Given the description of an element on the screen output the (x, y) to click on. 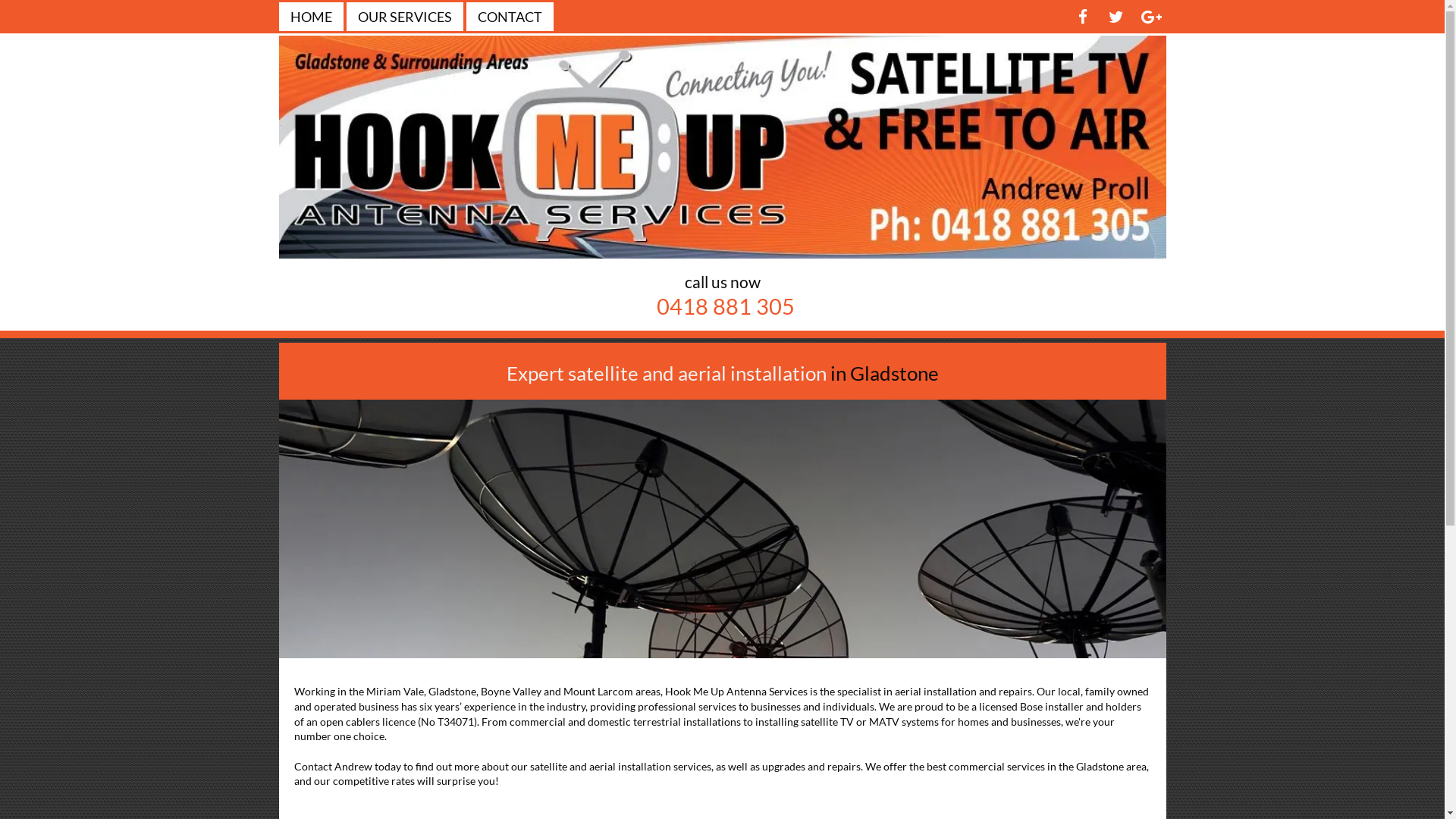
CONTACT Element type: text (509, 16)
hook me up antennas logo banner Element type: hover (722, 146)
HOME Element type: text (310, 16)
0418 881 305 Element type: text (725, 306)
hook me up antennas matv systems antenna receiver Element type: hover (722, 528)
OUR SERVICES Element type: text (404, 16)
